Given the description of an element on the screen output the (x, y) to click on. 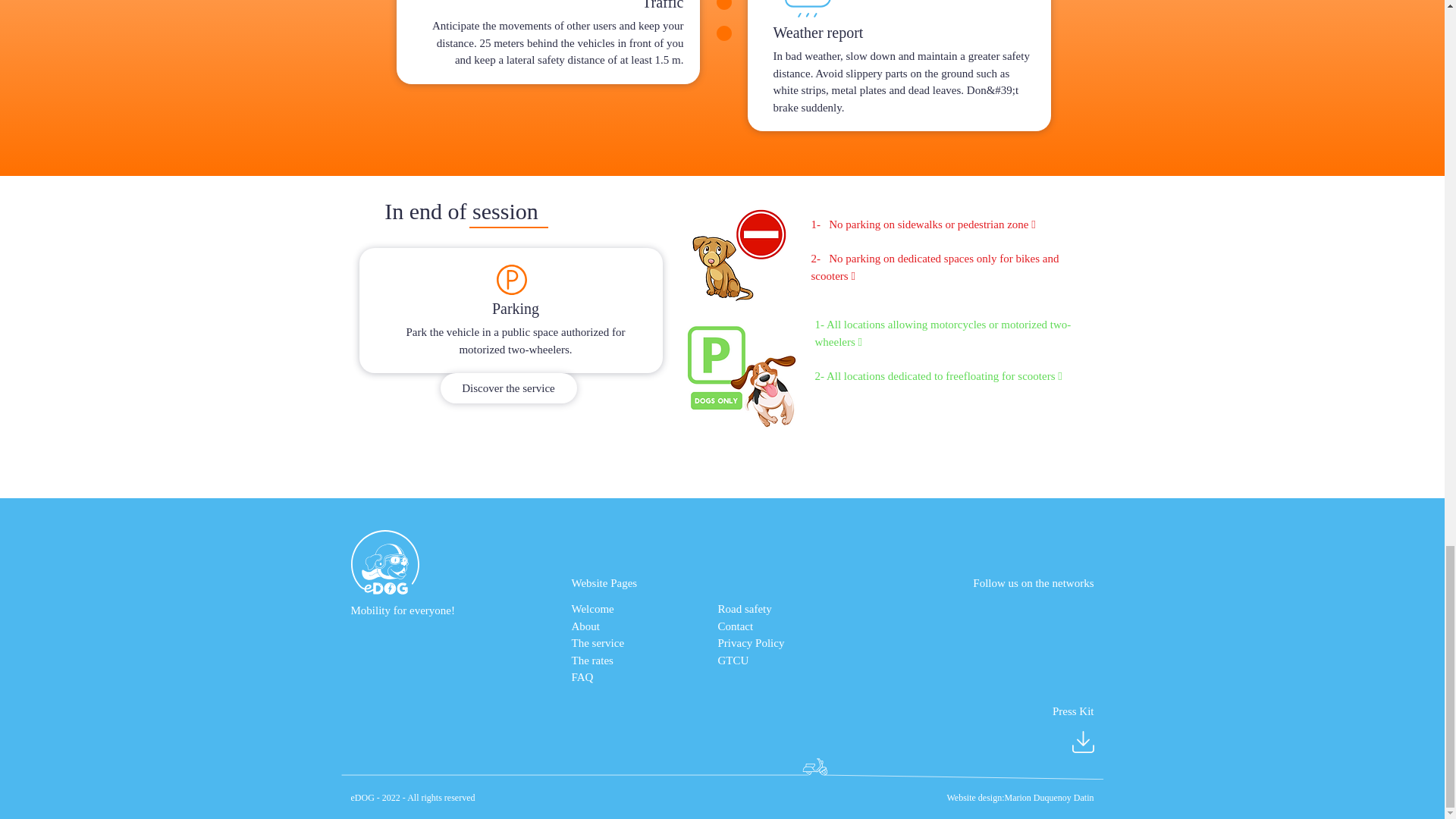
The service (598, 643)
GTCU (732, 659)
Road safety (744, 608)
Privacy Policy (750, 643)
FAQ (583, 676)
Contact (734, 625)
About (585, 625)
Marion Duquenoy Datin (1049, 797)
Welcome (593, 608)
The rates (592, 659)
